Given the description of an element on the screen output the (x, y) to click on. 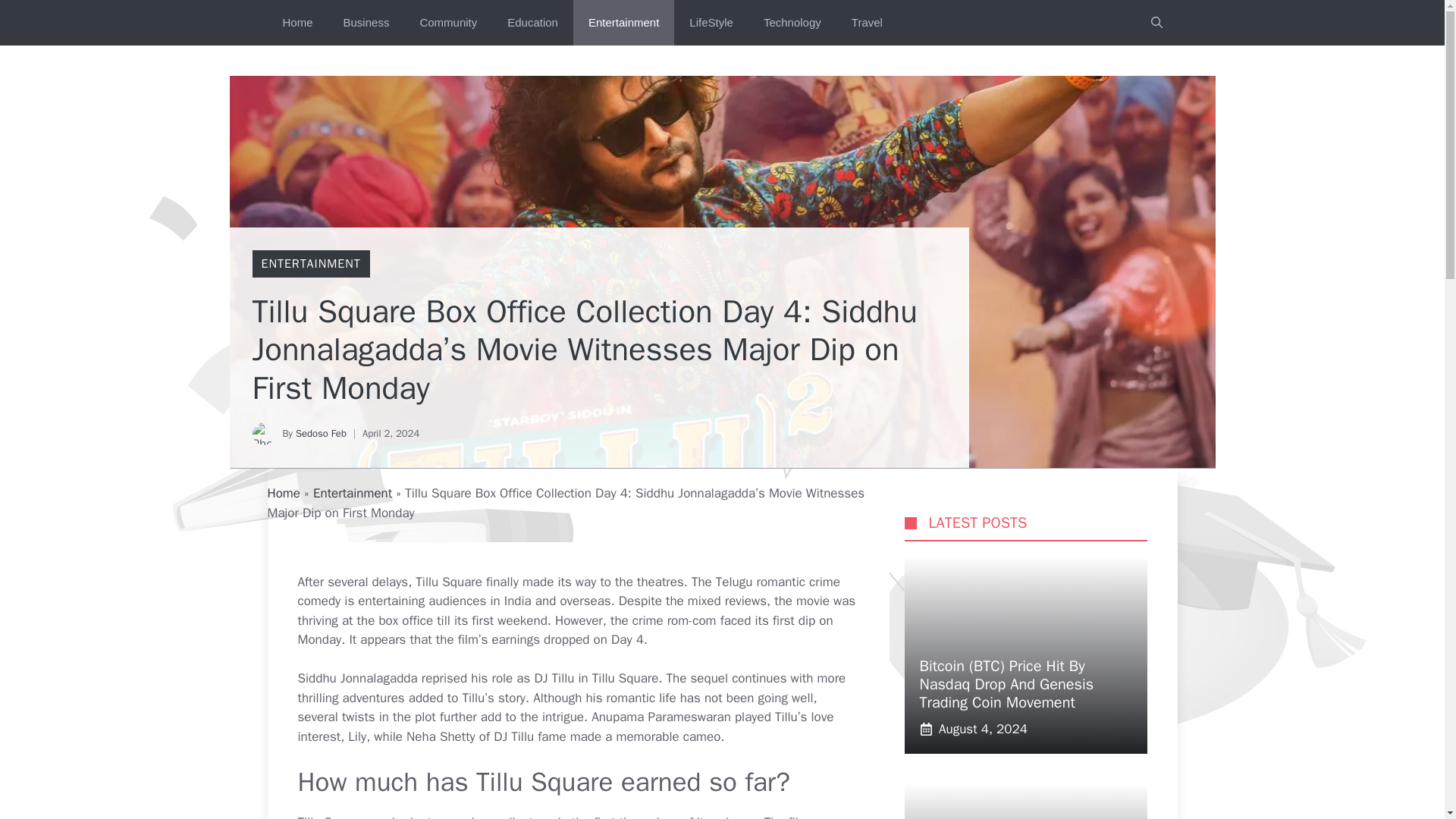
Business (366, 22)
Home (296, 22)
Community (448, 22)
Technology (791, 22)
Home (282, 493)
ENTERTAINMENT (309, 263)
Entertainment (352, 493)
Sedoso Feb (320, 432)
LifeStyle (711, 22)
Travel (866, 22)
Education (532, 22)
Entertainment (623, 22)
